Given the description of an element on the screen output the (x, y) to click on. 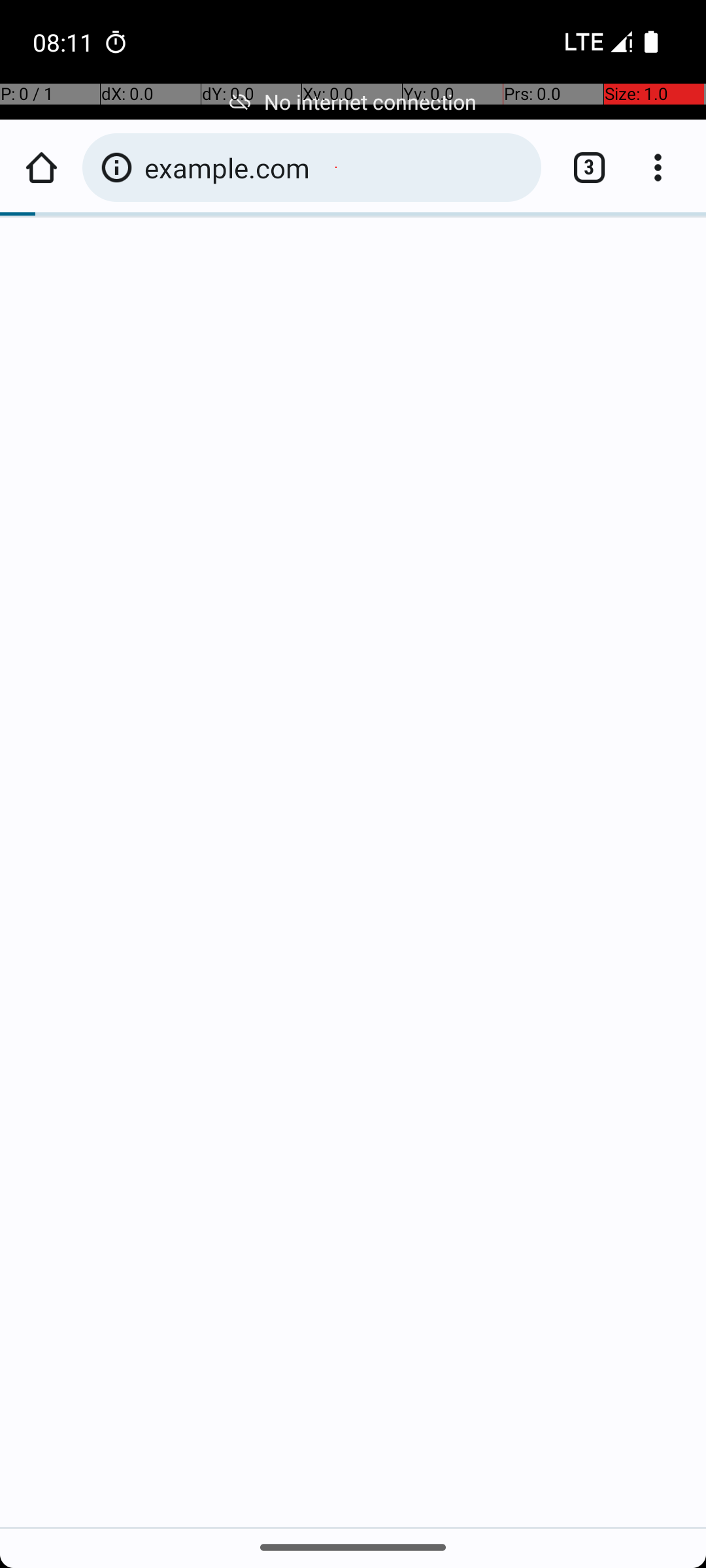
No internet connection Element type: android.widget.TextView (352, 101)
example.com Element type: android.widget.EditText (335, 167)
Switch or close tabs Element type: android.widget.ImageButton (582, 167)
08:11 Element type: android.widget.TextView (64, 41)
